Given the description of an element on the screen output the (x, y) to click on. 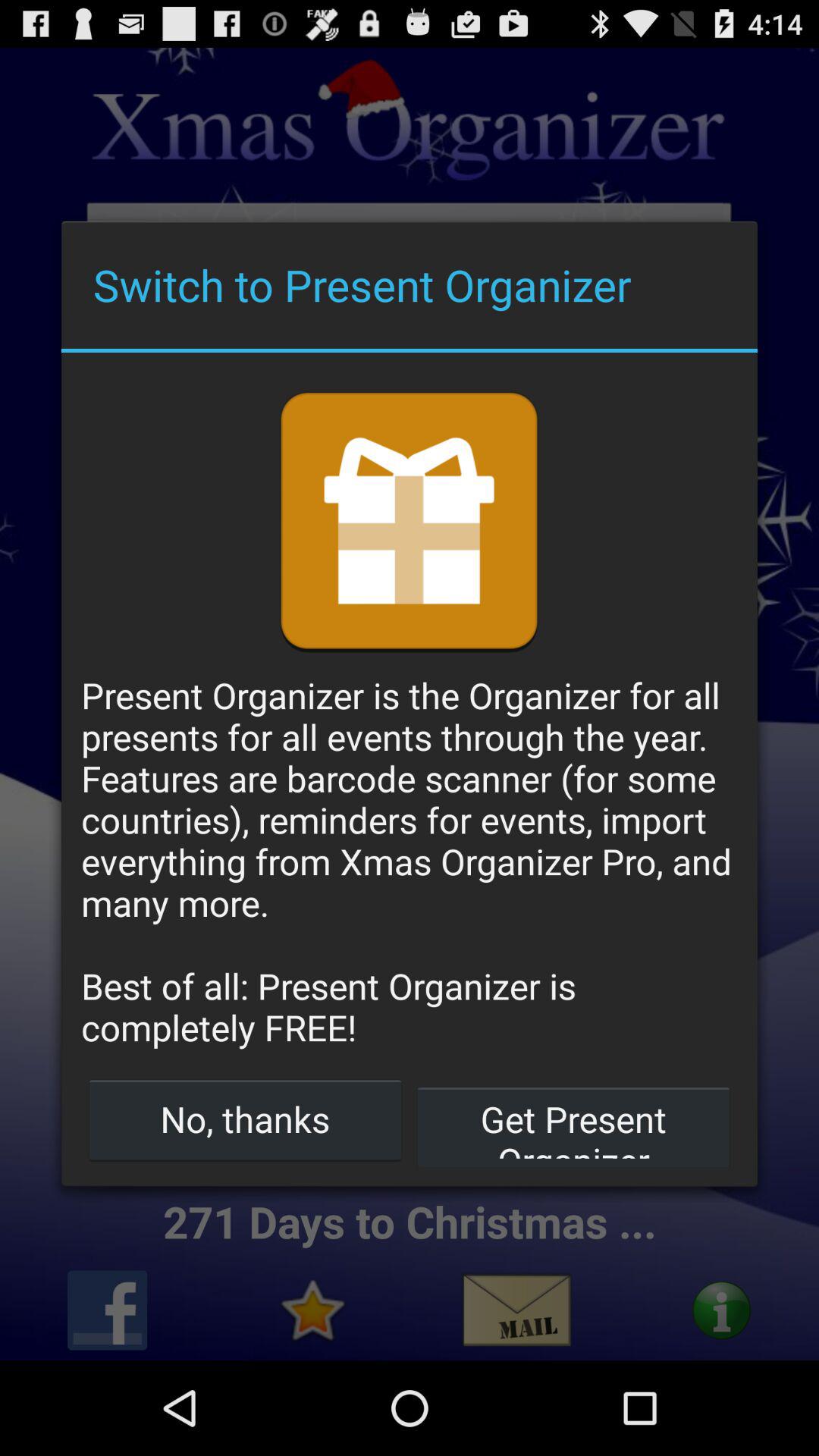
turn on no, thanks button (245, 1119)
